Given the description of an element on the screen output the (x, y) to click on. 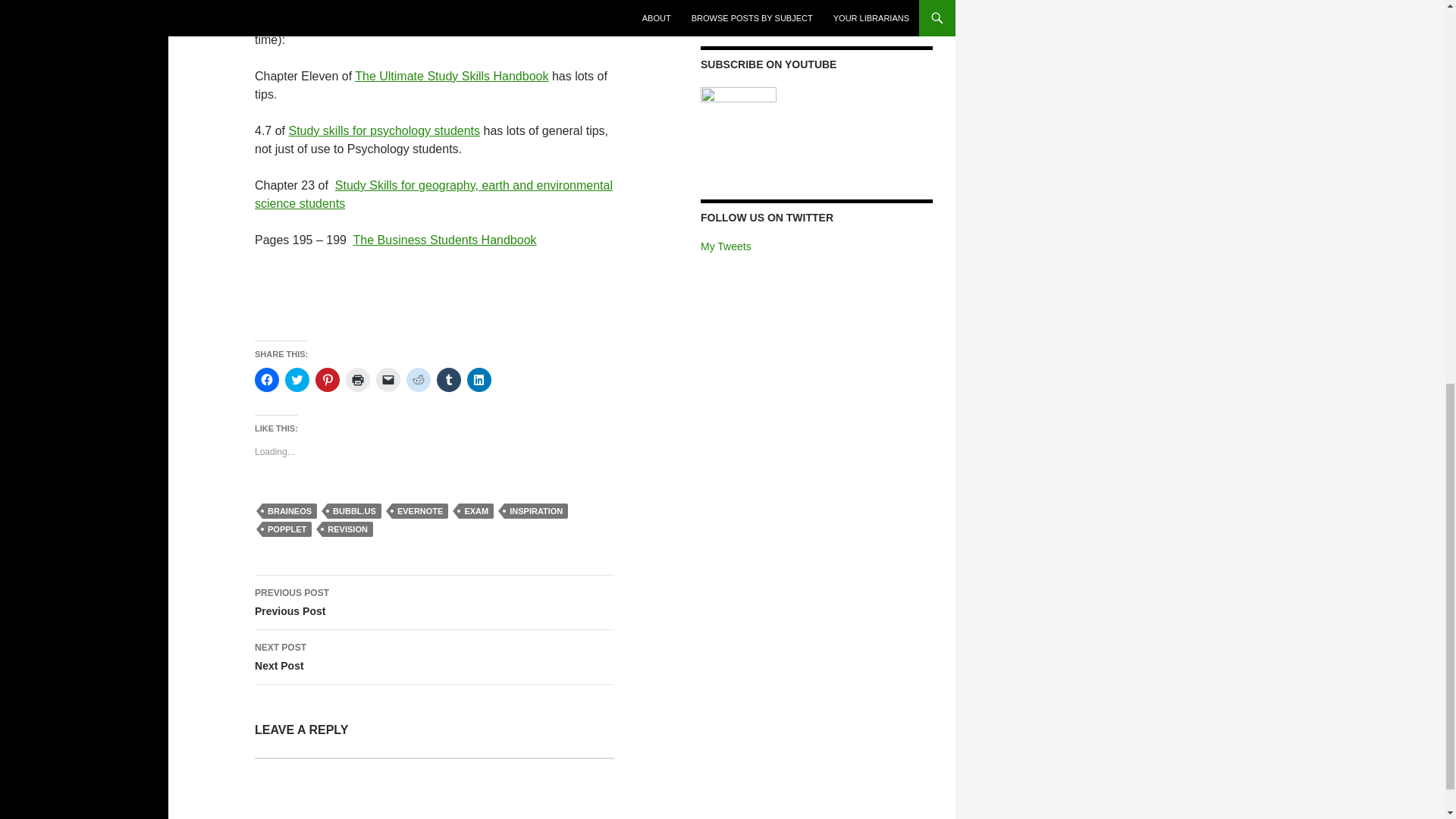
Click to print (357, 379)
Click to email a link to a friend (387, 379)
Click to share on Pinterest (327, 379)
INSPIRATION (535, 510)
Click to share on Facebook (266, 379)
The Business Students Handbook (445, 239)
The Ultimate Study Skills Handbook (451, 75)
Click to share on Twitter (296, 379)
POPPLET (286, 529)
EXAM (475, 510)
REVISION (346, 529)
BRAINEOS (289, 510)
Click to share on Reddit (418, 379)
The Ultimate Study Skills Handbook (451, 75)
